Given the description of an element on the screen output the (x, y) to click on. 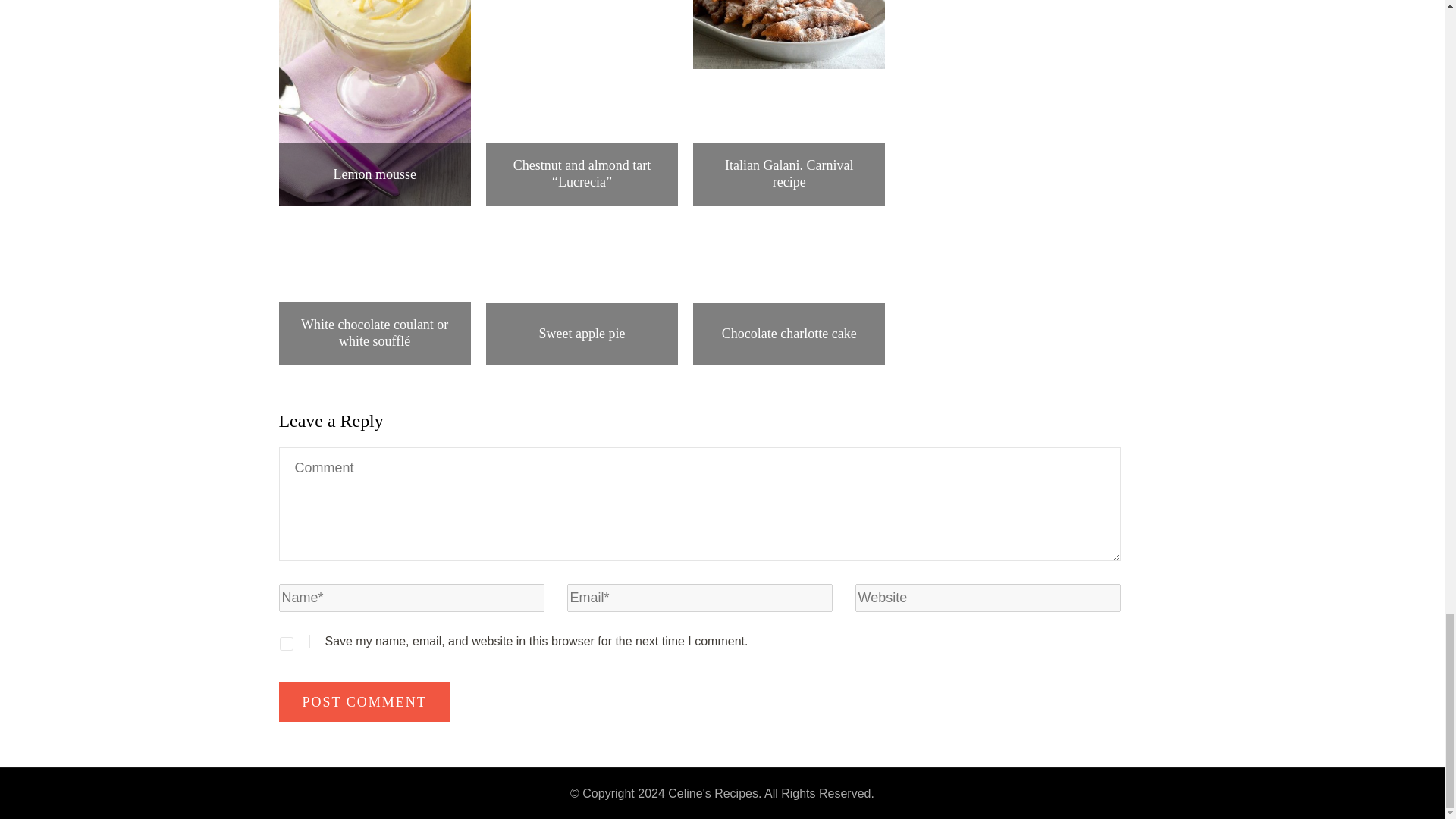
Sweet apple pie (581, 334)
Lemon mousse (374, 175)
Post Comment (364, 701)
Chocolate charlotte cake (788, 334)
Italian Galani. Carnival recipe (788, 174)
Post Comment (364, 701)
Celine's Recipes (713, 793)
